Given the description of an element on the screen output the (x, y) to click on. 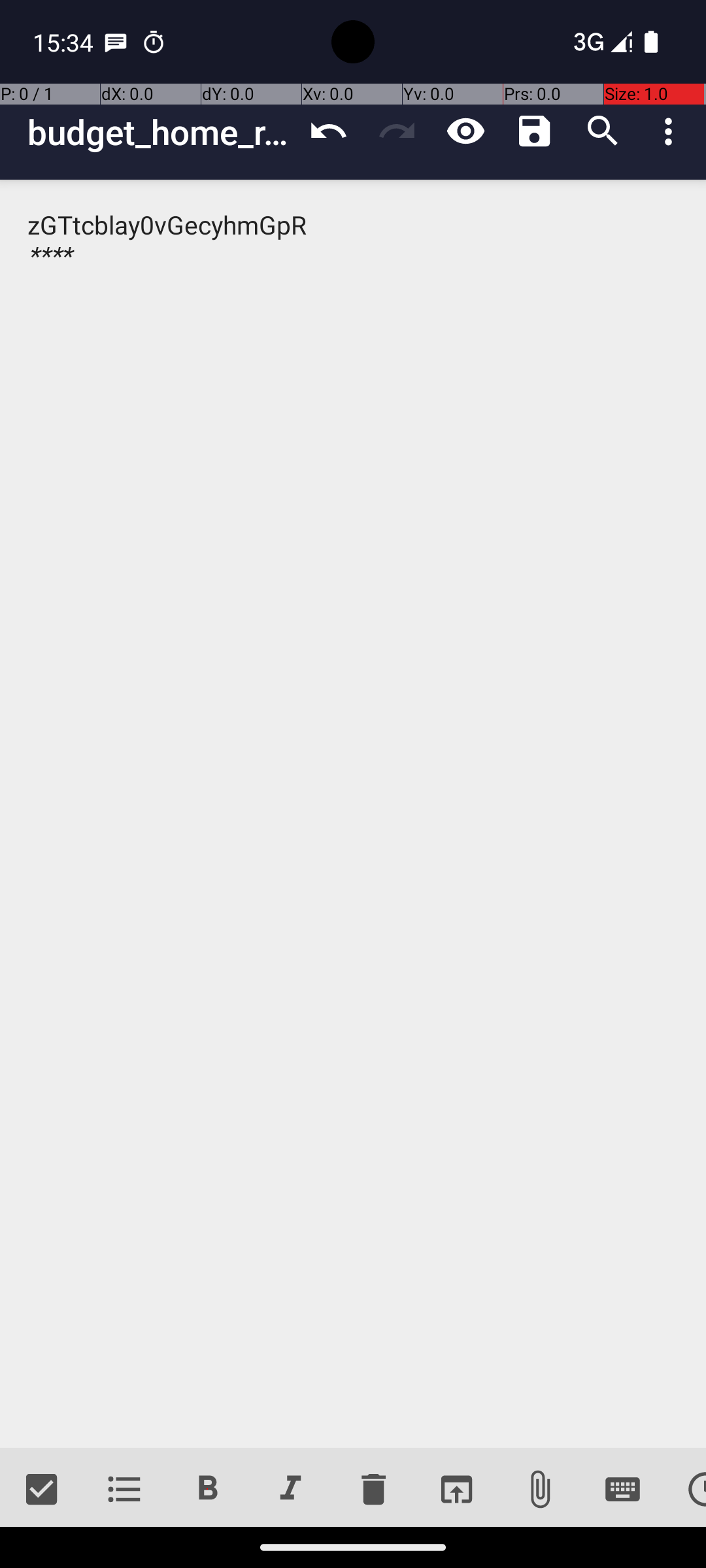
budget_home_renovation_2023_08_10 Element type: android.widget.TextView (160, 131)
zGTtcblay0vGecyhmGpR
**** Element type: android.widget.EditText (353, 813)
